Given the description of an element on the screen output the (x, y) to click on. 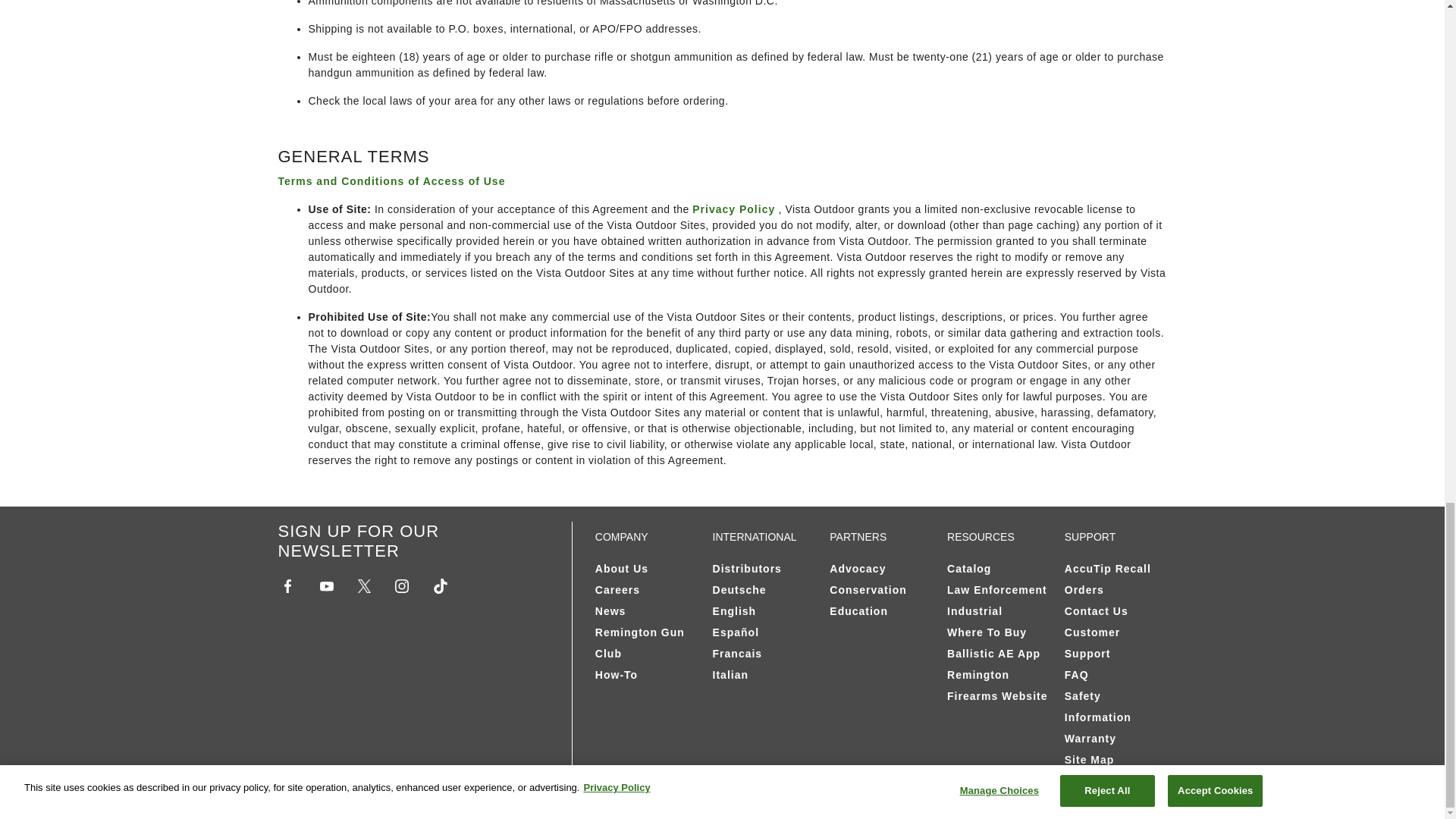
twitter (364, 585)
youtube (326, 586)
facebook (286, 586)
tiktok (440, 585)
instagram (401, 586)
